Given the description of an element on the screen output the (x, y) to click on. 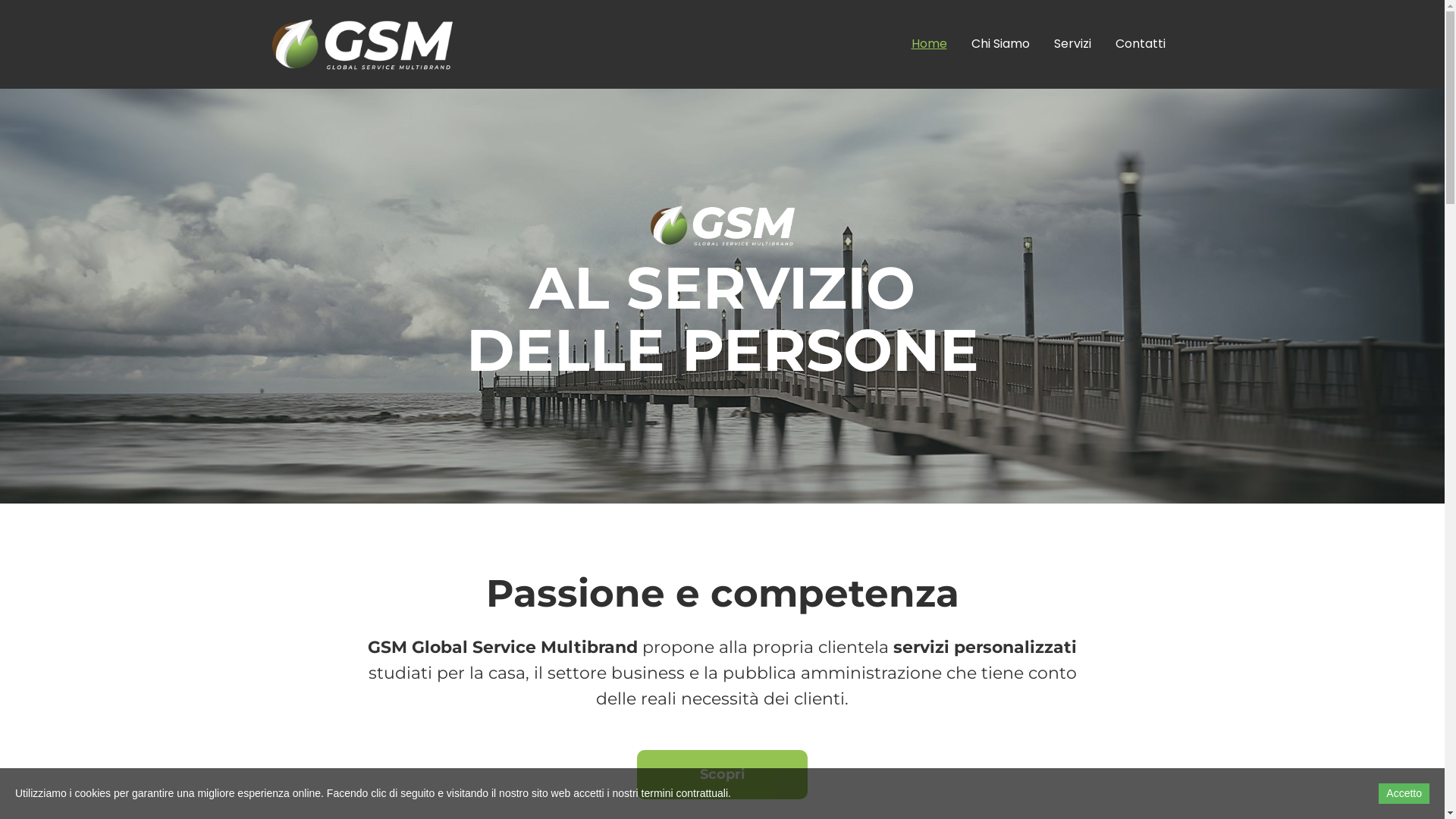
Servizi Element type: text (1072, 43)
Home Element type: text (929, 43)
Scopri Element type: text (722, 774)
Accetto Element type: text (1403, 793)
Contatti Element type: text (1139, 43)
Chi Siamo Element type: text (999, 43)
